Given the description of an element on the screen output the (x, y) to click on. 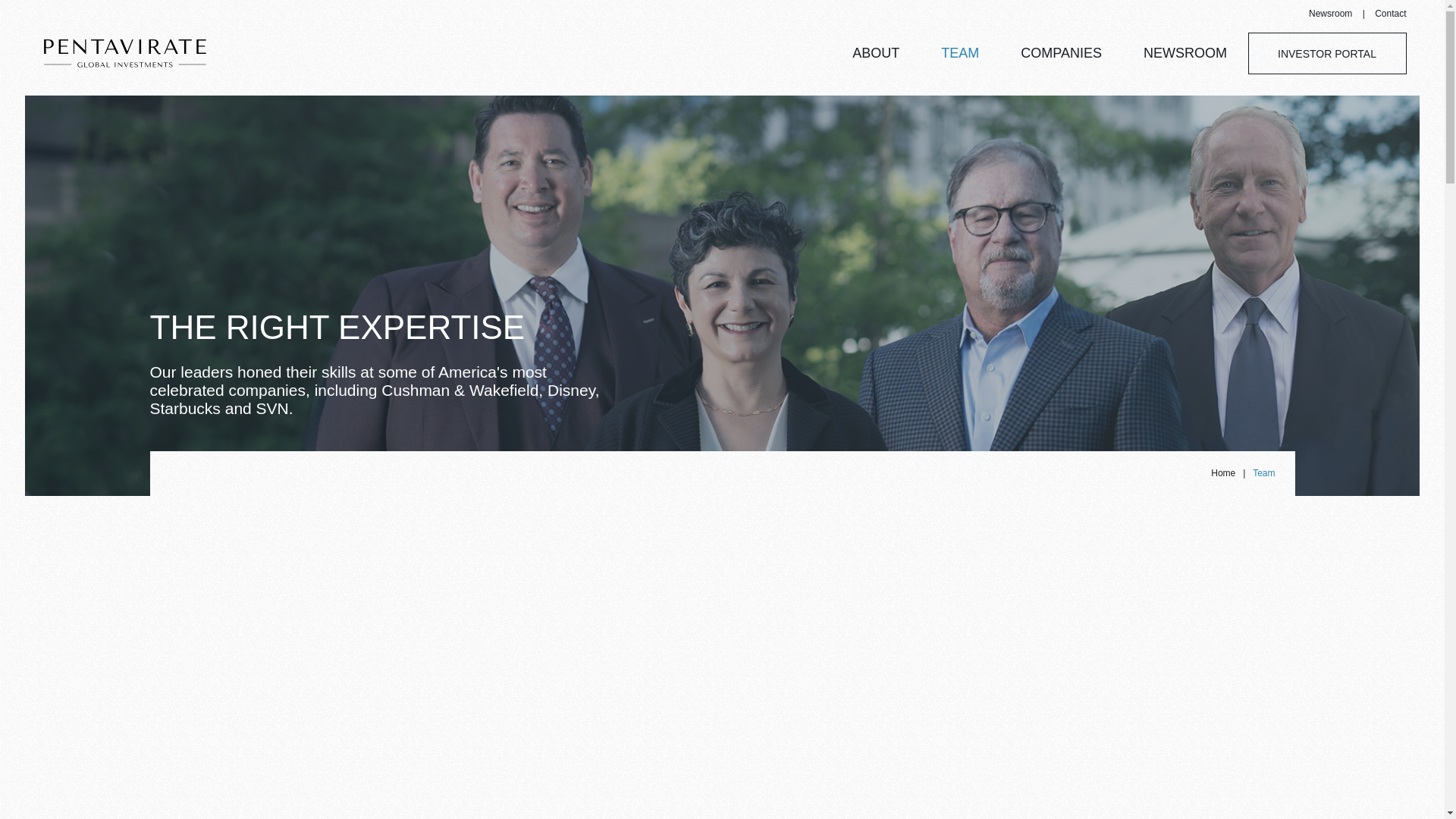
Home (1222, 472)
COMPANIES (1061, 53)
NEWSROOM (1184, 53)
INVESTOR PORTAL (1326, 53)
TEAM (959, 53)
ABOUT (875, 53)
Contact (1390, 13)
Newsroom (1330, 13)
